Given the description of an element on the screen output the (x, y) to click on. 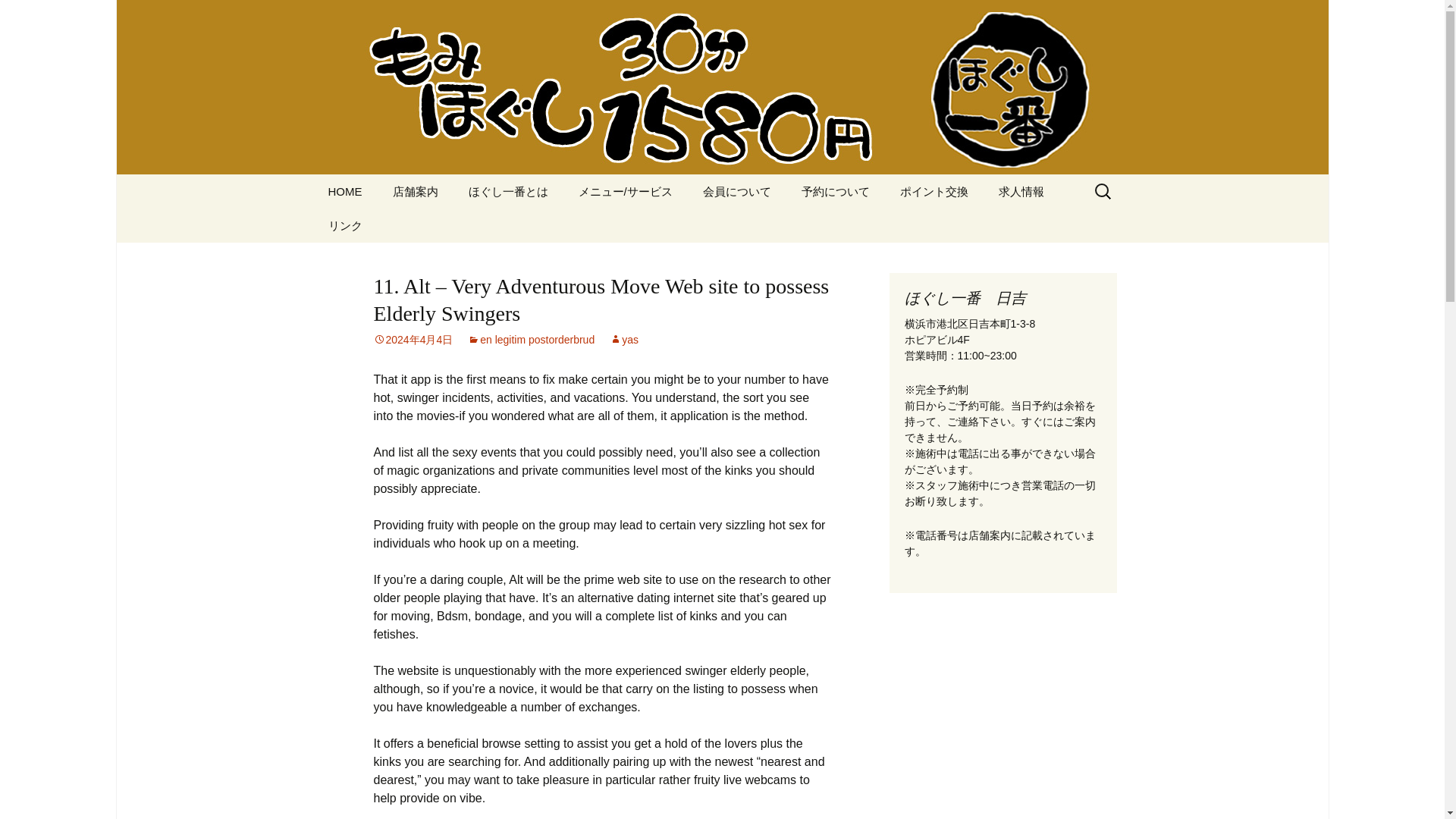
en legitim postorderbrud (530, 339)
yas (624, 339)
HOME (345, 191)
